Given the description of an element on the screen output the (x, y) to click on. 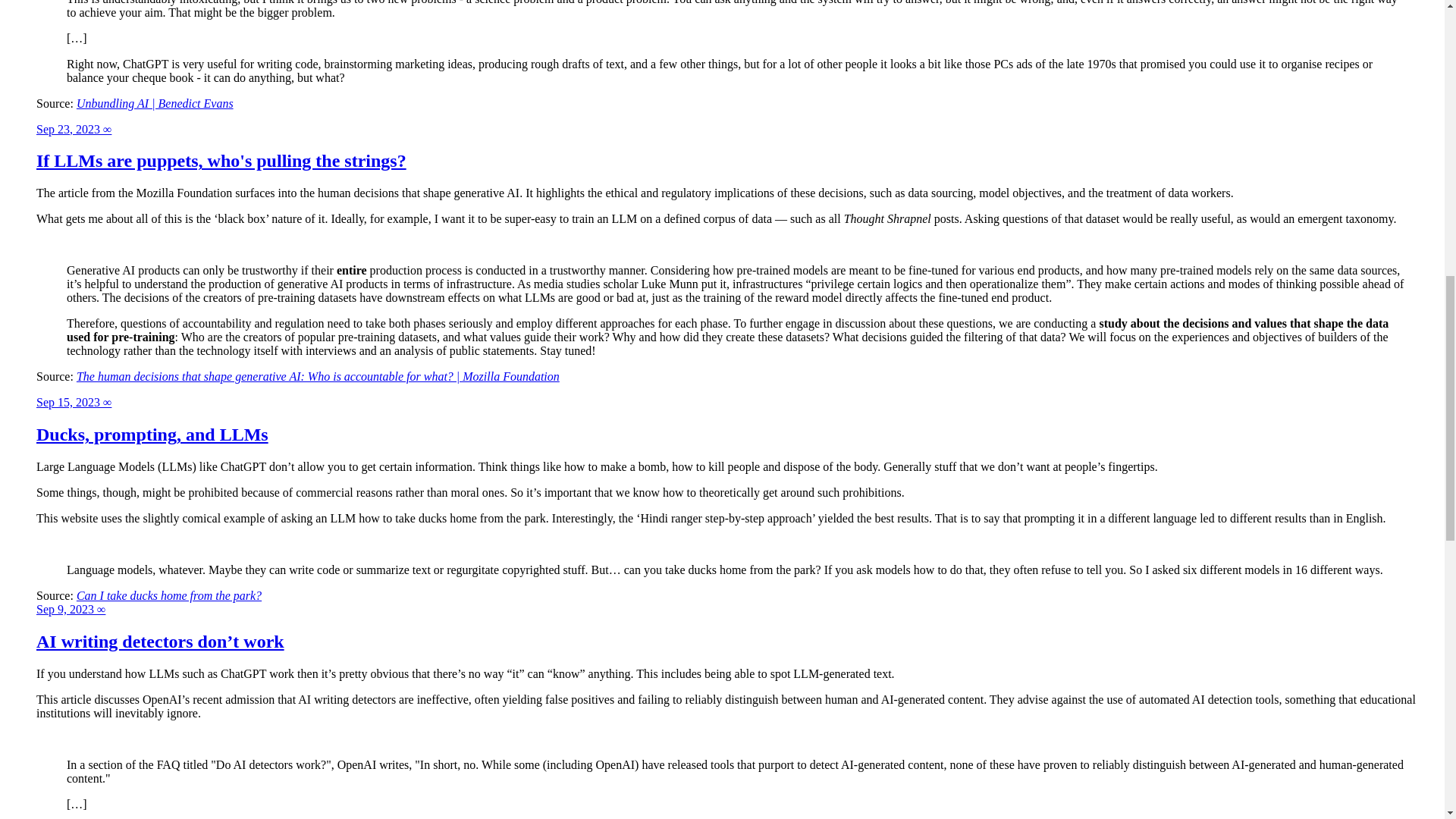
Ducks, prompting, and LLMs (151, 434)
Can I take ducks home from the park? (169, 594)
If LLMs are puppets, who's pulling the strings? (221, 160)
